Given the description of an element on the screen output the (x, y) to click on. 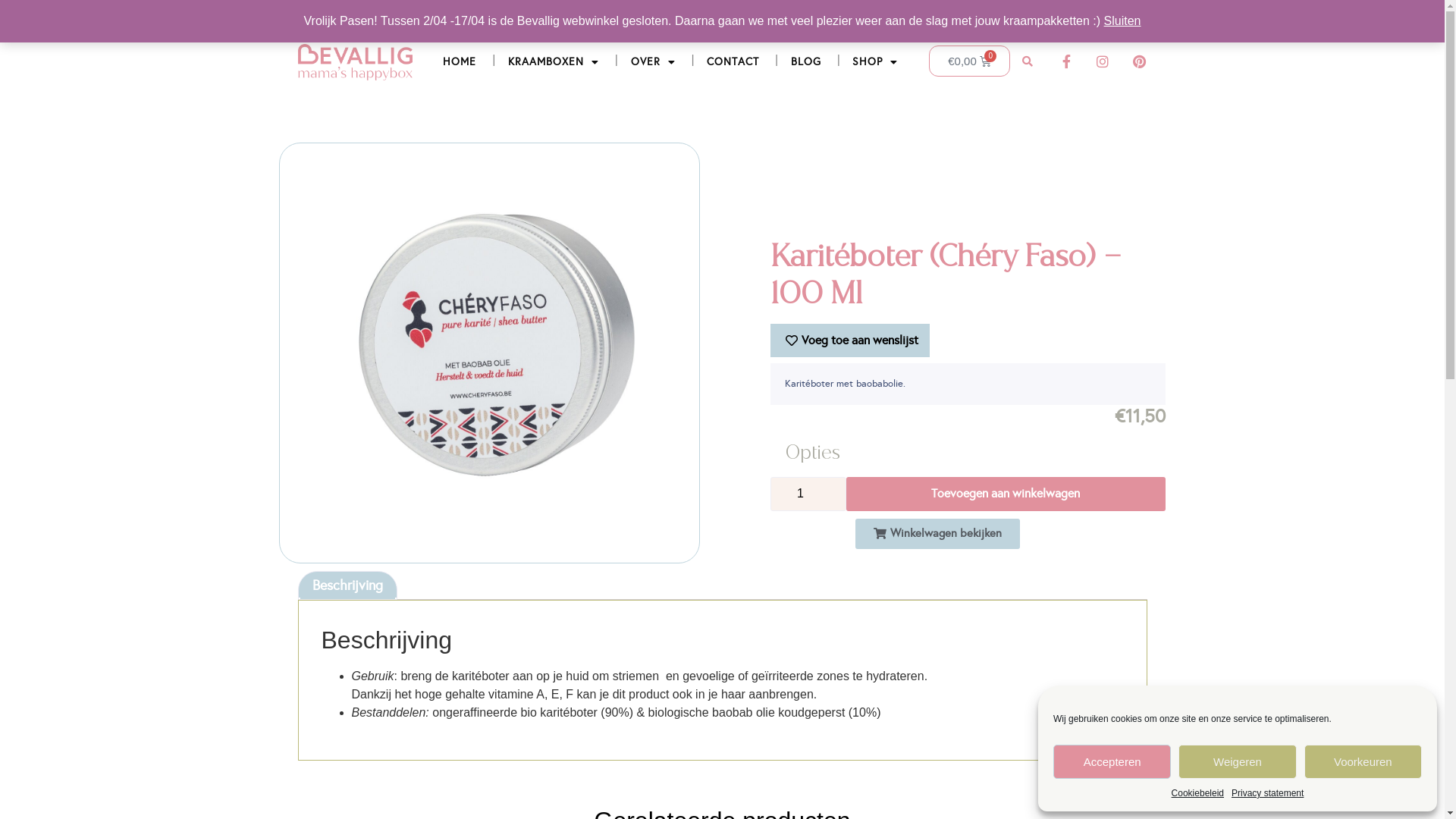
BLOG Element type: text (806, 62)
Accepteren Element type: text (1111, 761)
Winkelwagen bekijken Element type: text (937, 533)
Cookiebeleid Element type: text (1197, 793)
Aantal Element type: hover (808, 493)
Sluiten Element type: text (1122, 20)
OVER Element type: text (653, 62)
Toevoegen aan winkelwagen Element type: text (1006, 493)
SHOP Element type: text (875, 62)
KRAAMBOXEN Element type: text (553, 62)
Weigeren Element type: text (1236, 761)
HOME Element type: text (459, 62)
CONTACT Element type: text (732, 62)
Privacy statement Element type: text (1267, 793)
Voeg toe aan wenslijst Element type: text (849, 340)
Beschrijving Element type: text (347, 585)
cheryfaso Element type: hover (489, 352)
Voorkeuren Element type: text (1362, 761)
